Given the description of an element on the screen output the (x, y) to click on. 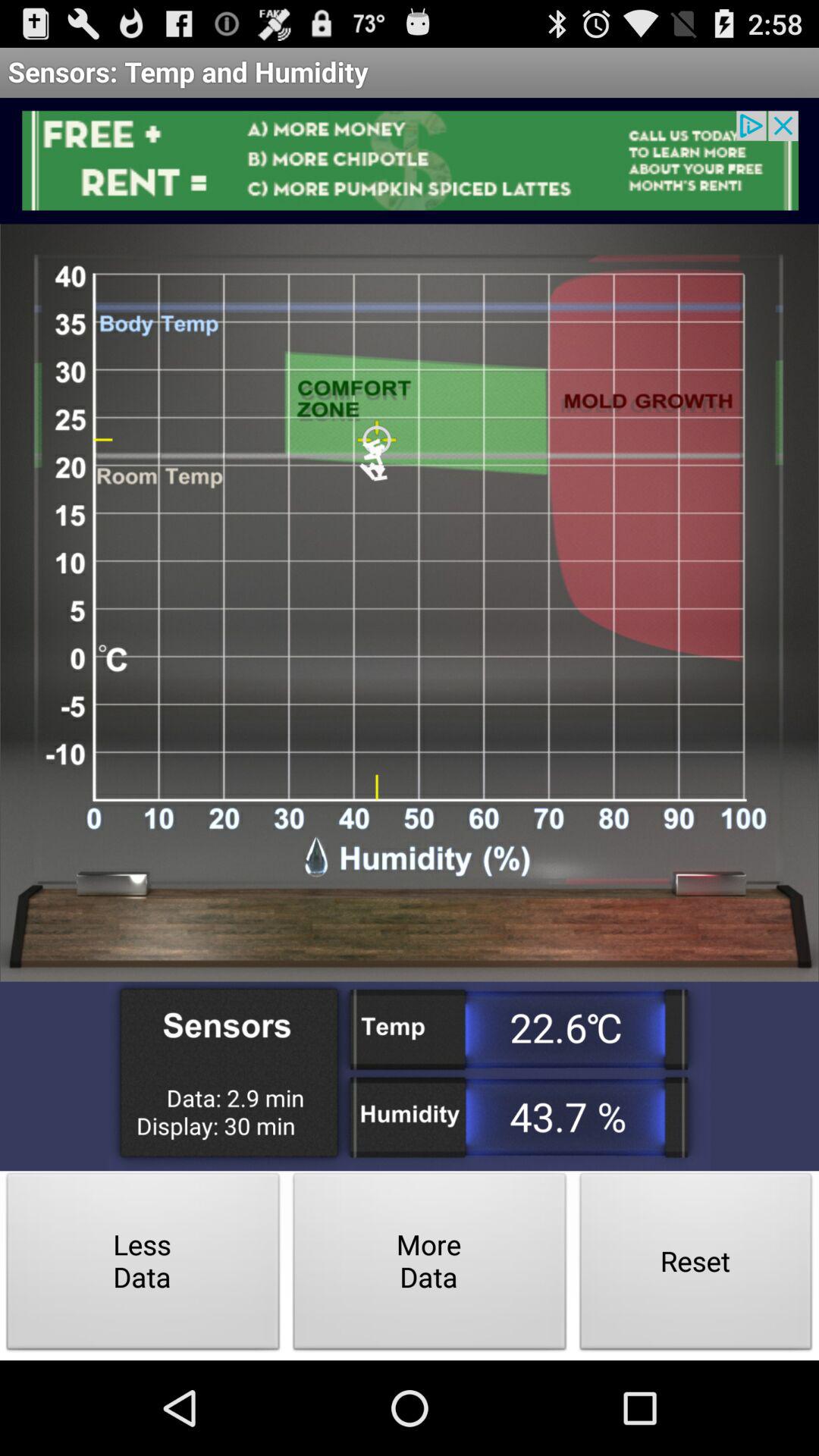
scroll until less
data button (143, 1265)
